Given the description of an element on the screen output the (x, y) to click on. 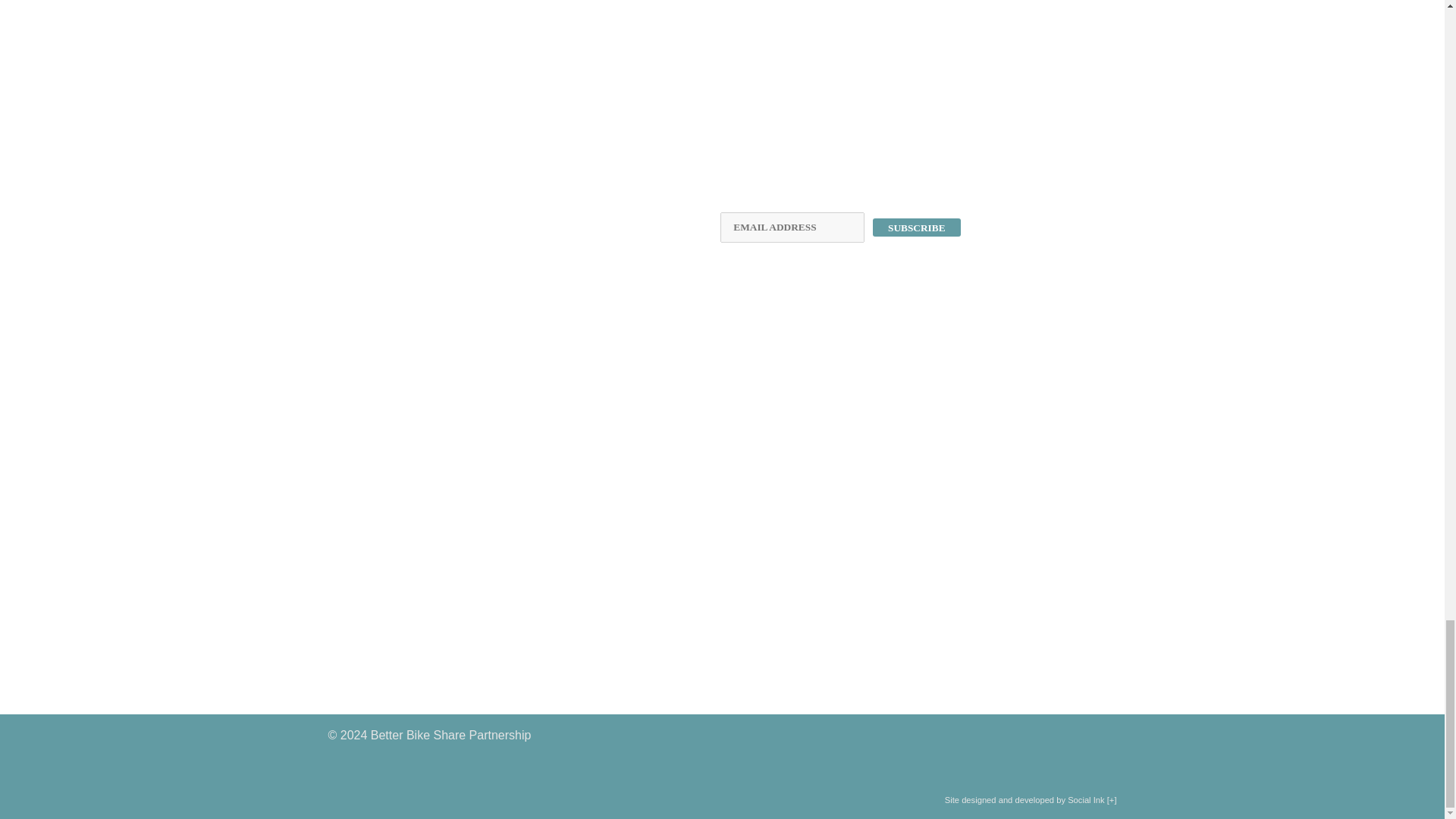
Subscribe (916, 227)
